Given the description of an element on the screen output the (x, y) to click on. 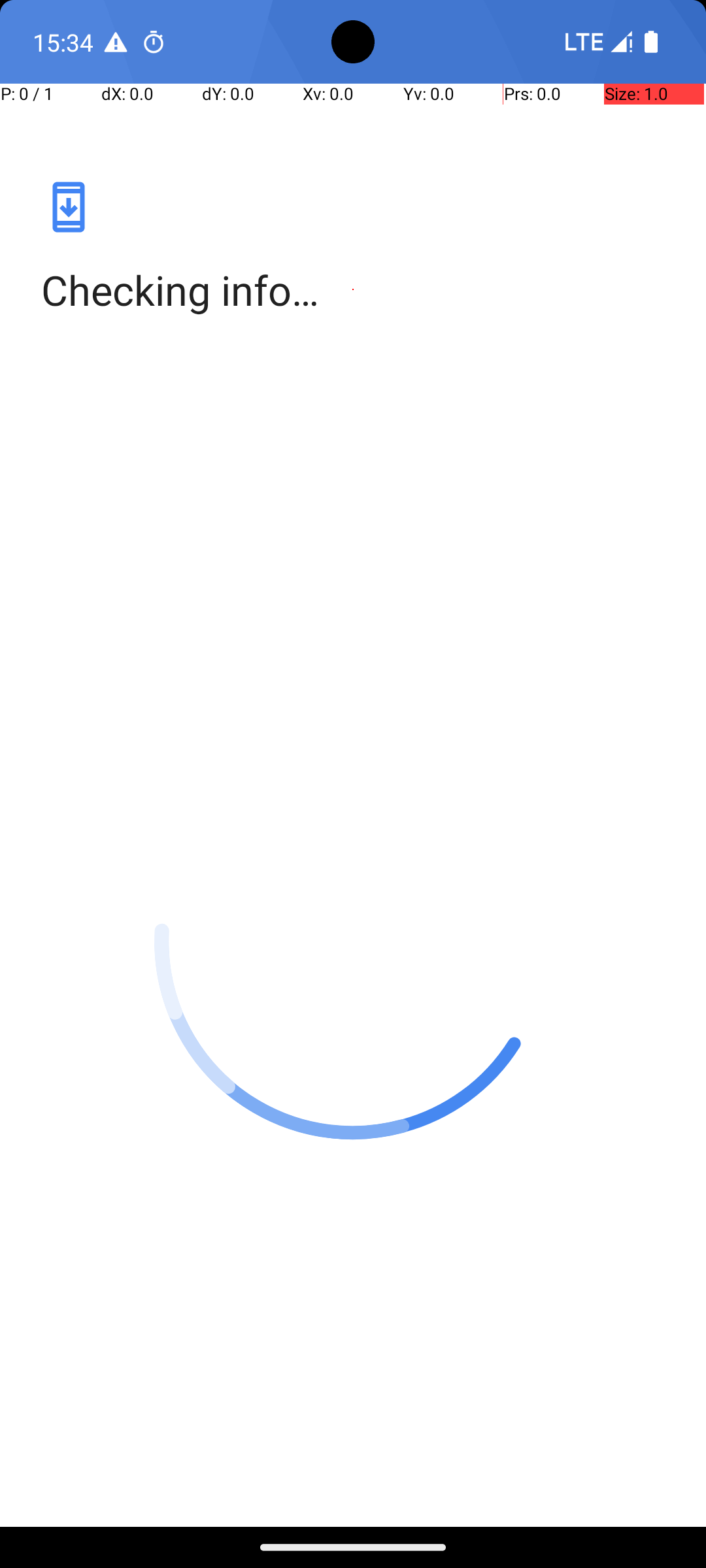
Checking info… Element type: android.widget.TextView (352, 289)
